Given the description of an element on the screen output the (x, y) to click on. 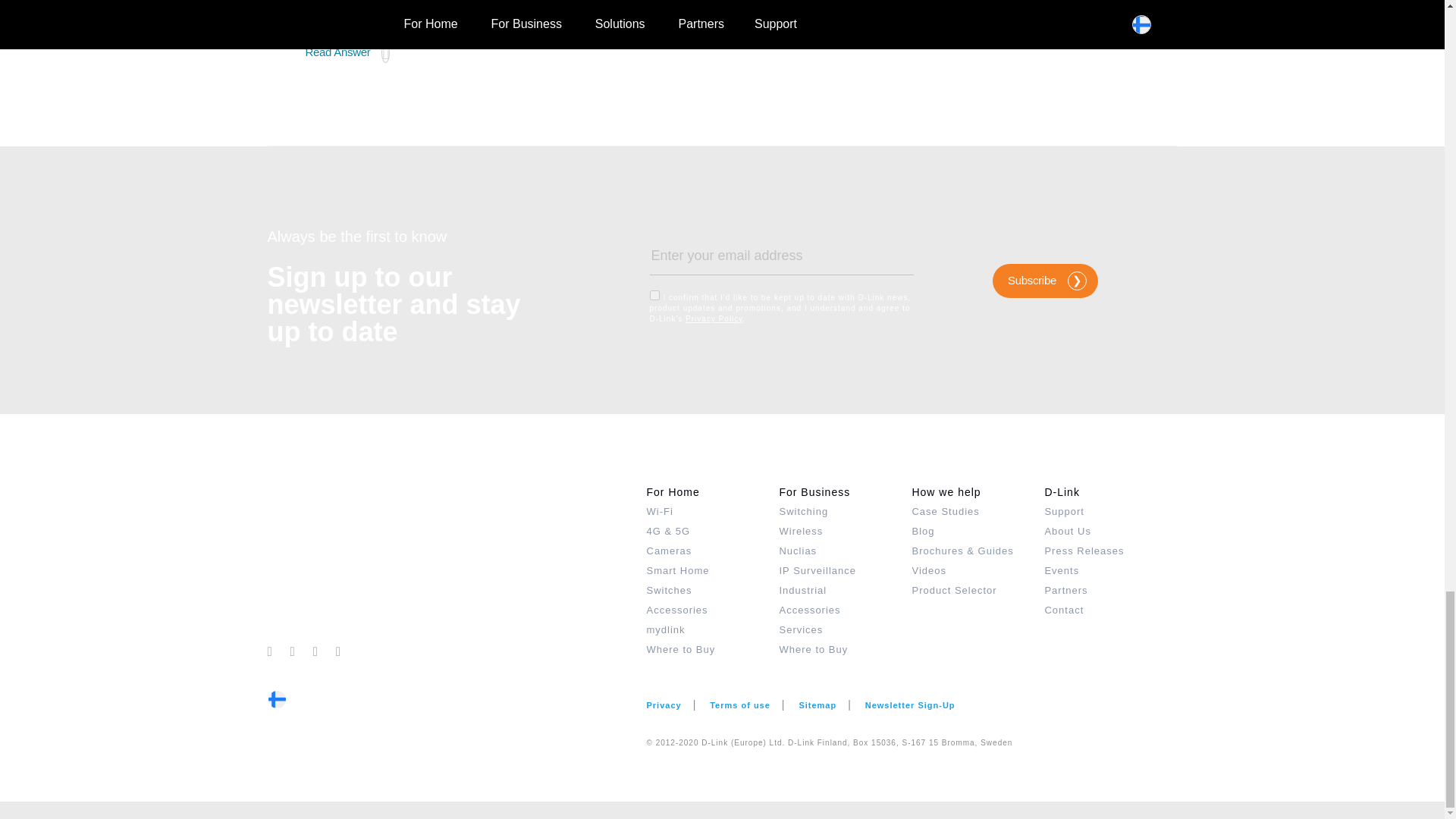
True (654, 295)
D-Link (456, 561)
